Given the description of an element on the screen output the (x, y) to click on. 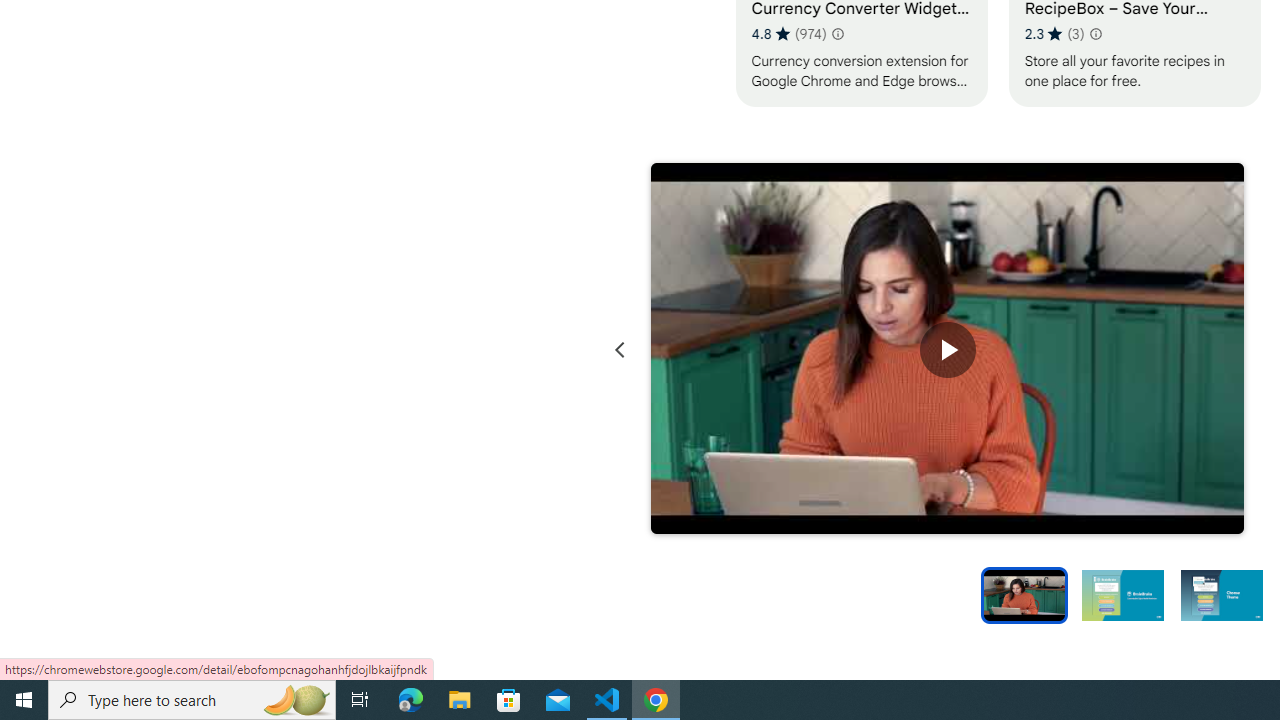
Preview slide 2 (1122, 594)
Preview slide 1 (1024, 594)
Average rating 2.3 out of 5 stars. 3 ratings. (1054, 33)
Item video thumbnail (1024, 594)
Preview slide 3 (1222, 594)
Item media 1 video (947, 349)
Average rating 4.8 out of 5 stars. 974 ratings. (788, 33)
Previous slide (619, 349)
